Given the description of an element on the screen output the (x, y) to click on. 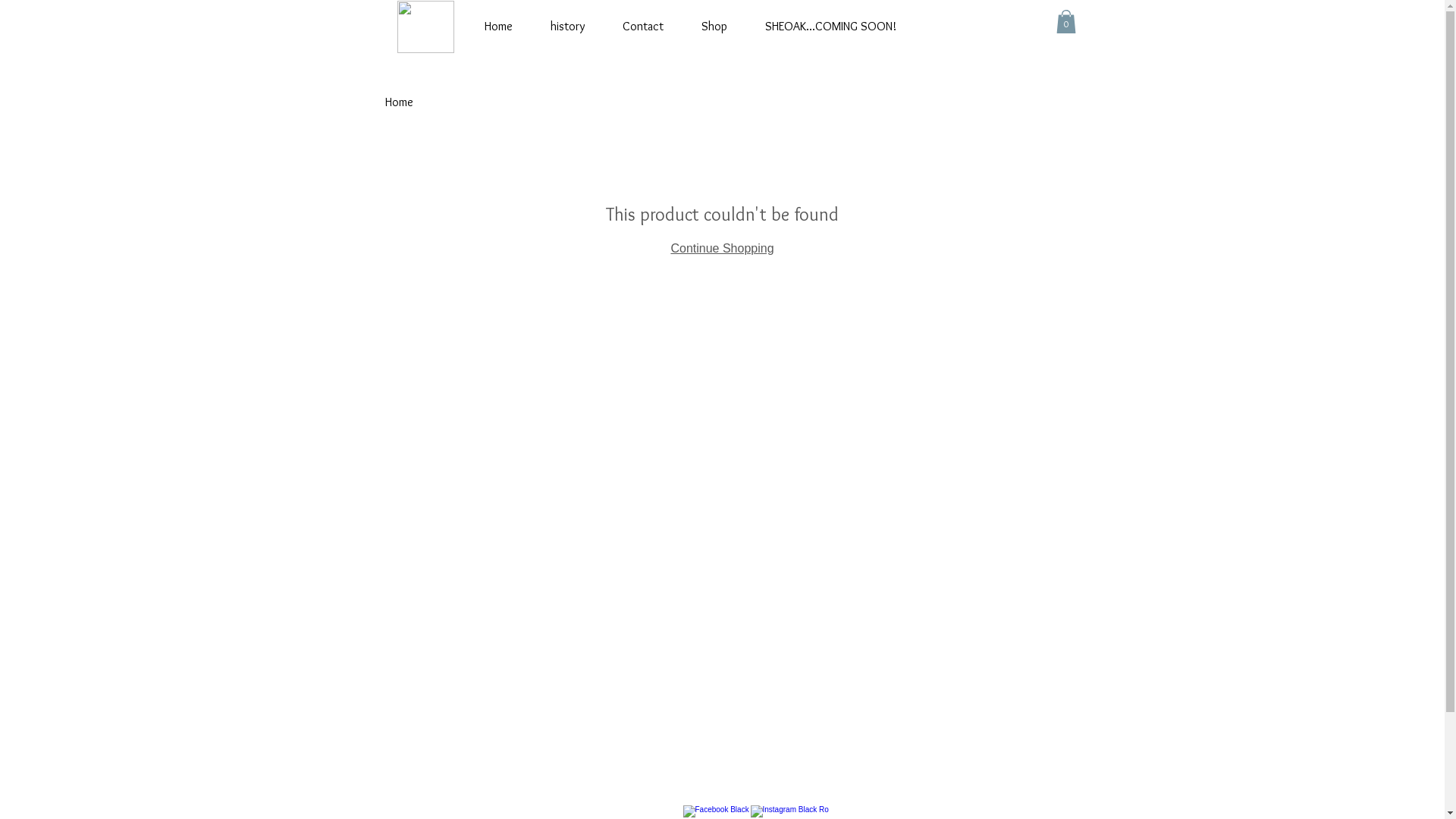
Home Element type: text (399, 101)
SHEOAK...COMING SOON! Element type: text (830, 26)
history Element type: text (566, 26)
0 Element type: text (1065, 21)
Shop Element type: text (714, 26)
Home Element type: text (498, 26)
Continue Shopping Element type: text (721, 247)
Contact Element type: text (642, 26)
